Given the description of an element on the screen output the (x, y) to click on. 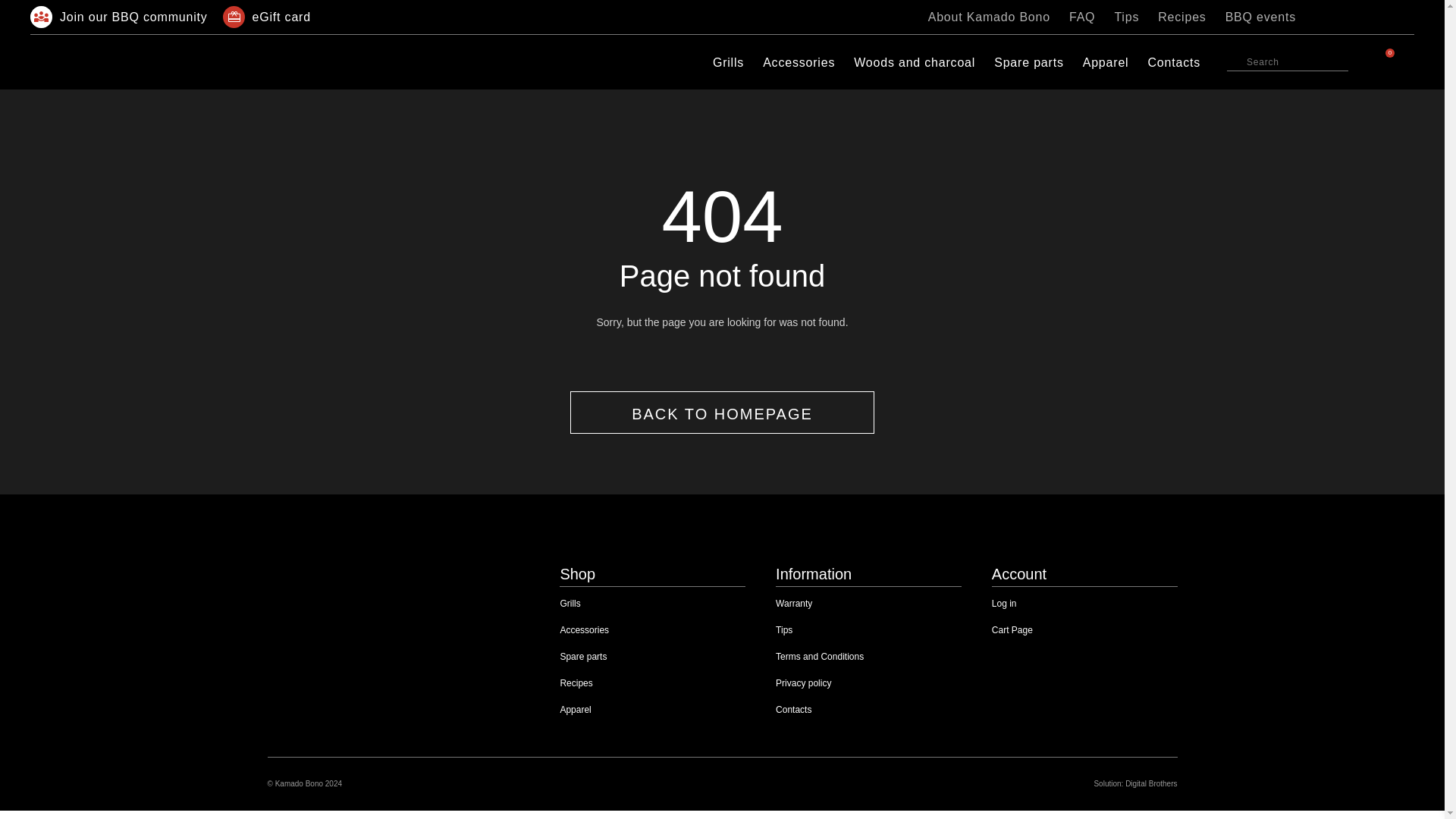
Accessories (798, 62)
eGift card (266, 16)
submit (1233, 59)
Grills (728, 62)
About Kamado Bono (988, 16)
submit (1233, 59)
BBQ events (1260, 16)
Recipes (1181, 16)
Apparel (1106, 62)
FAQ (1081, 16)
